Given the description of an element on the screen output the (x, y) to click on. 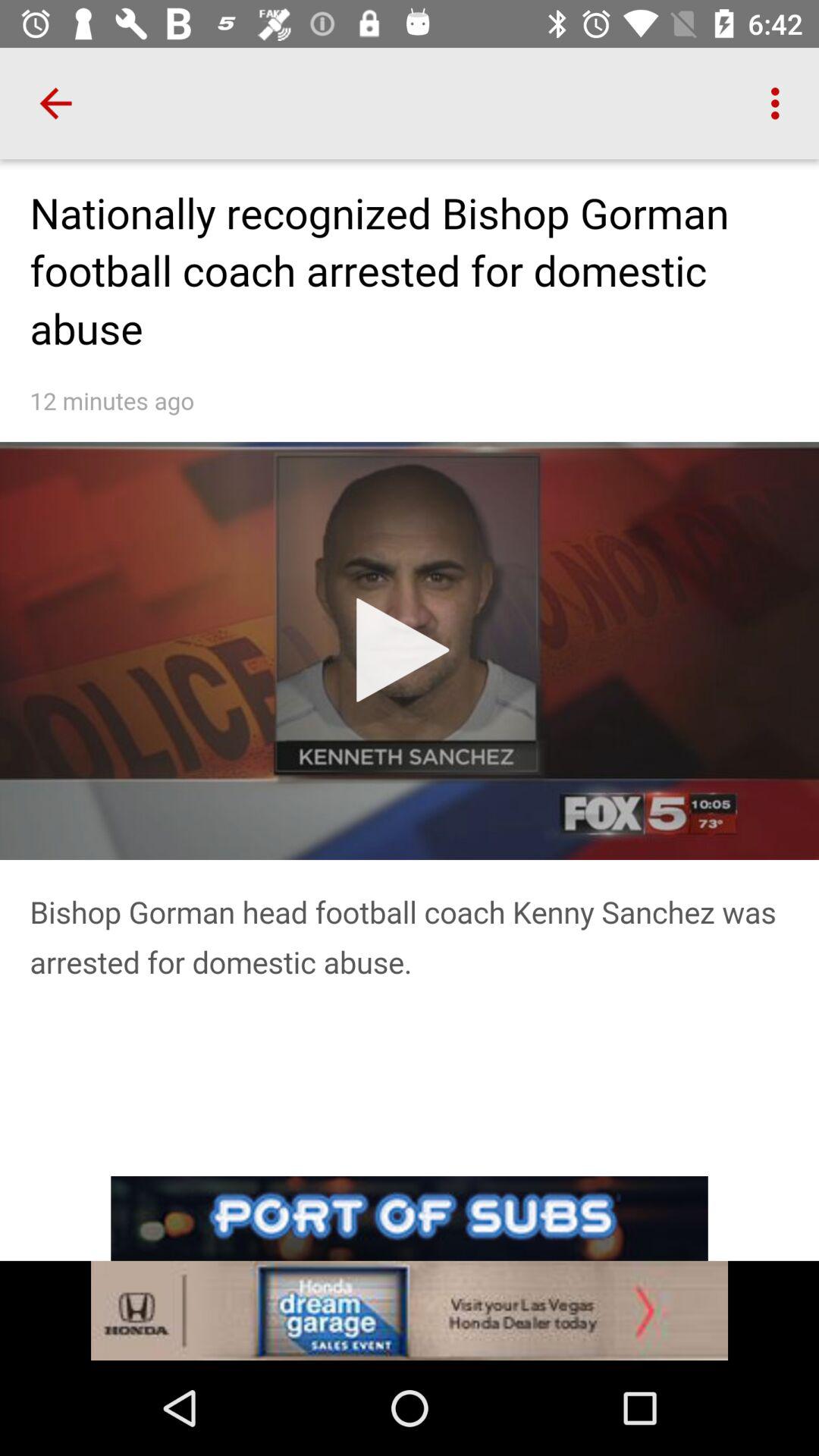
advertisement (409, 1268)
